Given the description of an element on the screen output the (x, y) to click on. 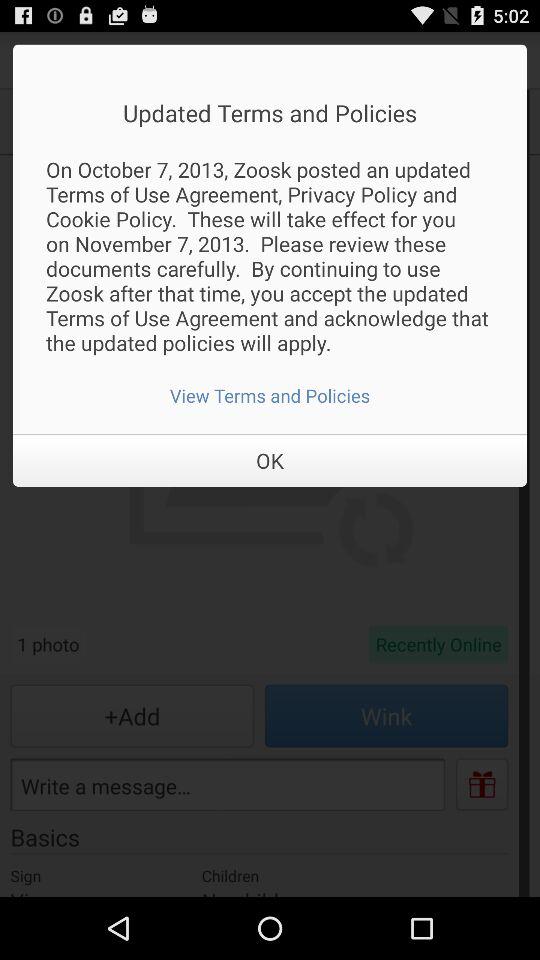
launch ok icon (269, 460)
